Given the description of an element on the screen output the (x, y) to click on. 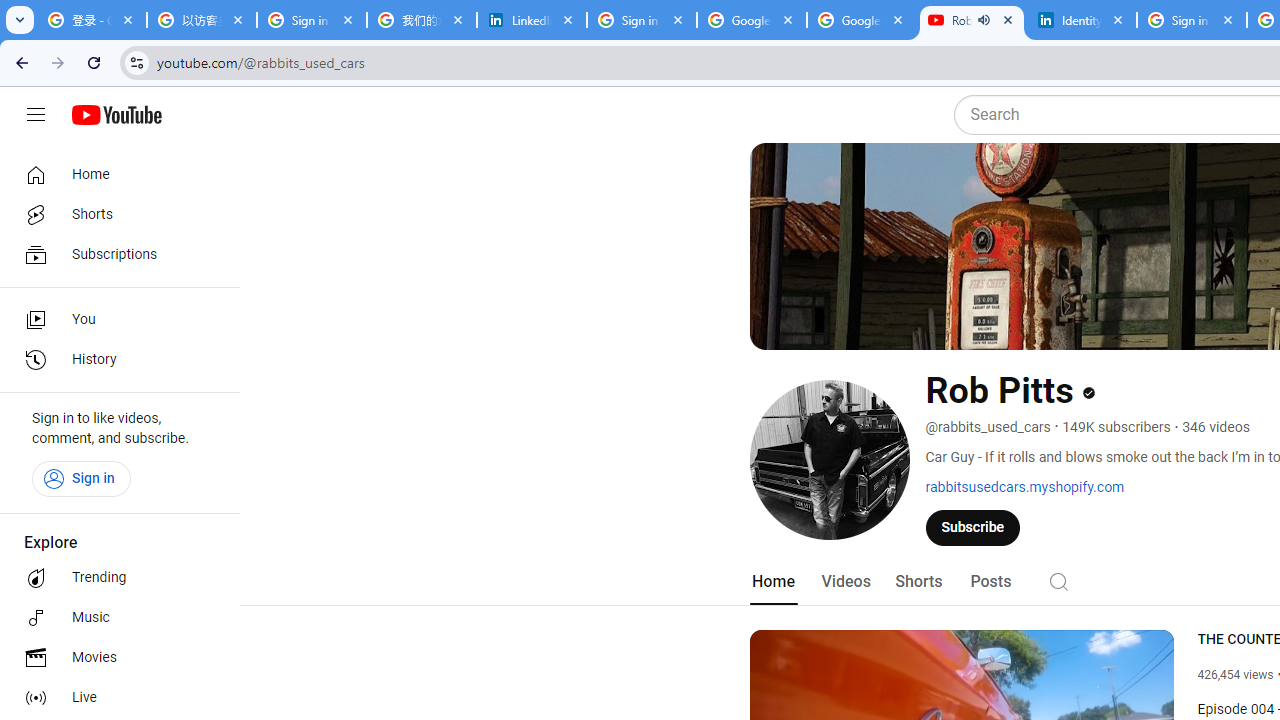
Sign in - Google Accounts (642, 20)
Rob Pitts - YouTube - Audio playing (971, 20)
Guide (35, 115)
Sign in - Google Accounts (312, 20)
Shorts (918, 581)
YouTube Home (116, 115)
